Given the description of an element on the screen output the (x, y) to click on. 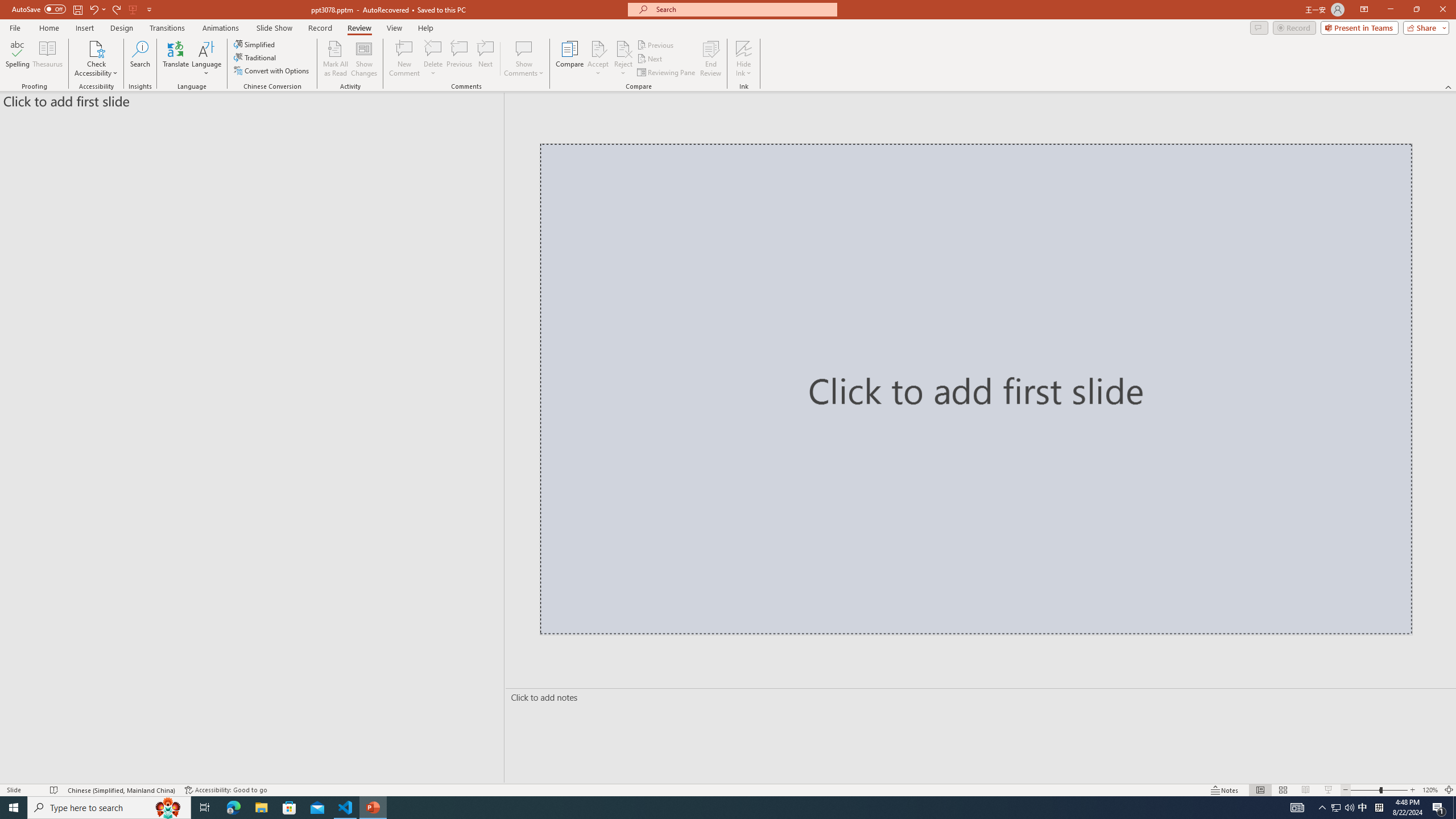
Zoom 120% (1430, 790)
Accessibility Checker Accessibility: Good to go (226, 790)
Translate (175, 58)
Reviewing Pane (666, 72)
Show Changes (363, 58)
Simplified (254, 44)
Previous (655, 44)
Hide Ink (743, 48)
